Given the description of an element on the screen output the (x, y) to click on. 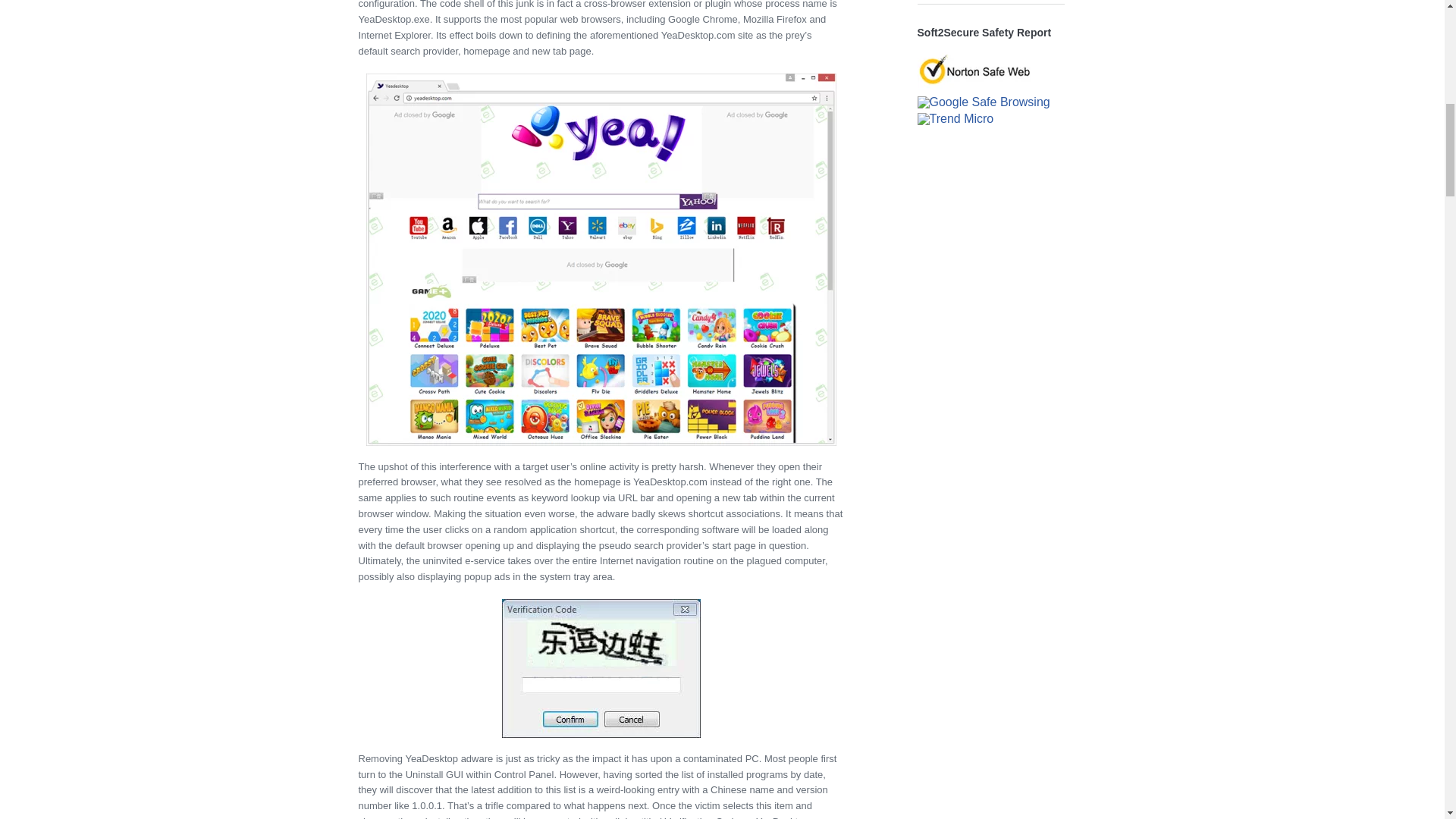
YeaDesktop Verification Code dialog is quite a brainteaser (601, 667)
